Given the description of an element on the screen output the (x, y) to click on. 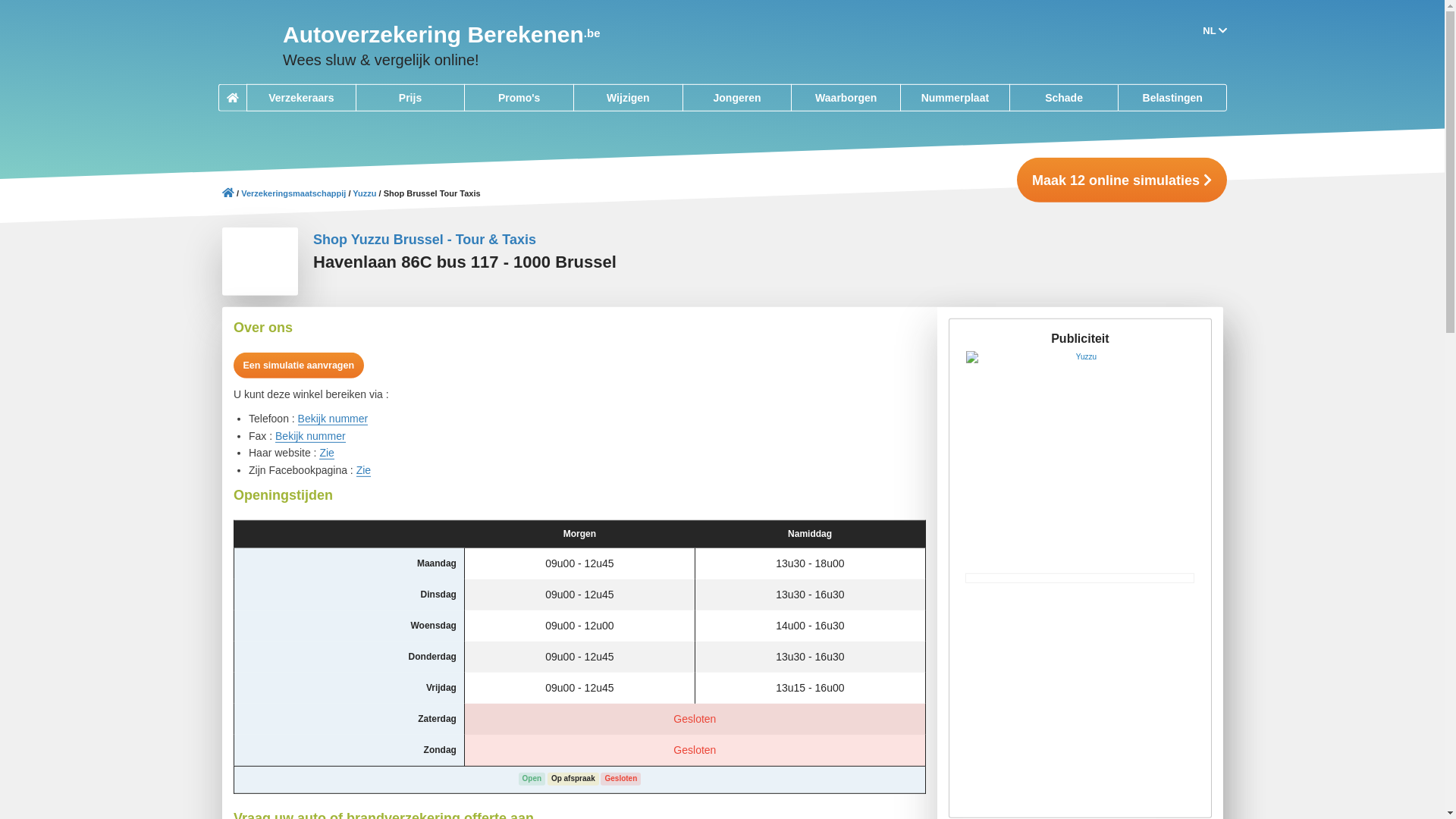
NL Element type: text (1214, 30)
Bekijk nummer Element type: text (310, 435)
Belastingen Element type: text (1171, 97)
Een simulatie aanvragen Element type: text (298, 365)
Autoverzekering Berekenen.be
Wees sluw & vergelijk online! Element type: text (409, 45)
Yuzzu Element type: text (364, 193)
Nummerplaat Element type: text (954, 97)
Jongeren Element type: text (735, 97)
Verzekeringsmaatschappij Element type: text (293, 193)
Promo's Element type: text (518, 97)
Bekijk nummer Element type: text (332, 418)
Maak 12 online simulaties Element type: text (1121, 179)
Schade Element type: text (1062, 97)
Zie Element type: text (326, 452)
Zie Element type: text (362, 469)
Wijzigen Element type: text (627, 97)
Waarborgen Element type: text (845, 97)
Prijs Element type: text (409, 97)
Verzekeraars Element type: text (299, 97)
